Given the description of an element on the screen output the (x, y) to click on. 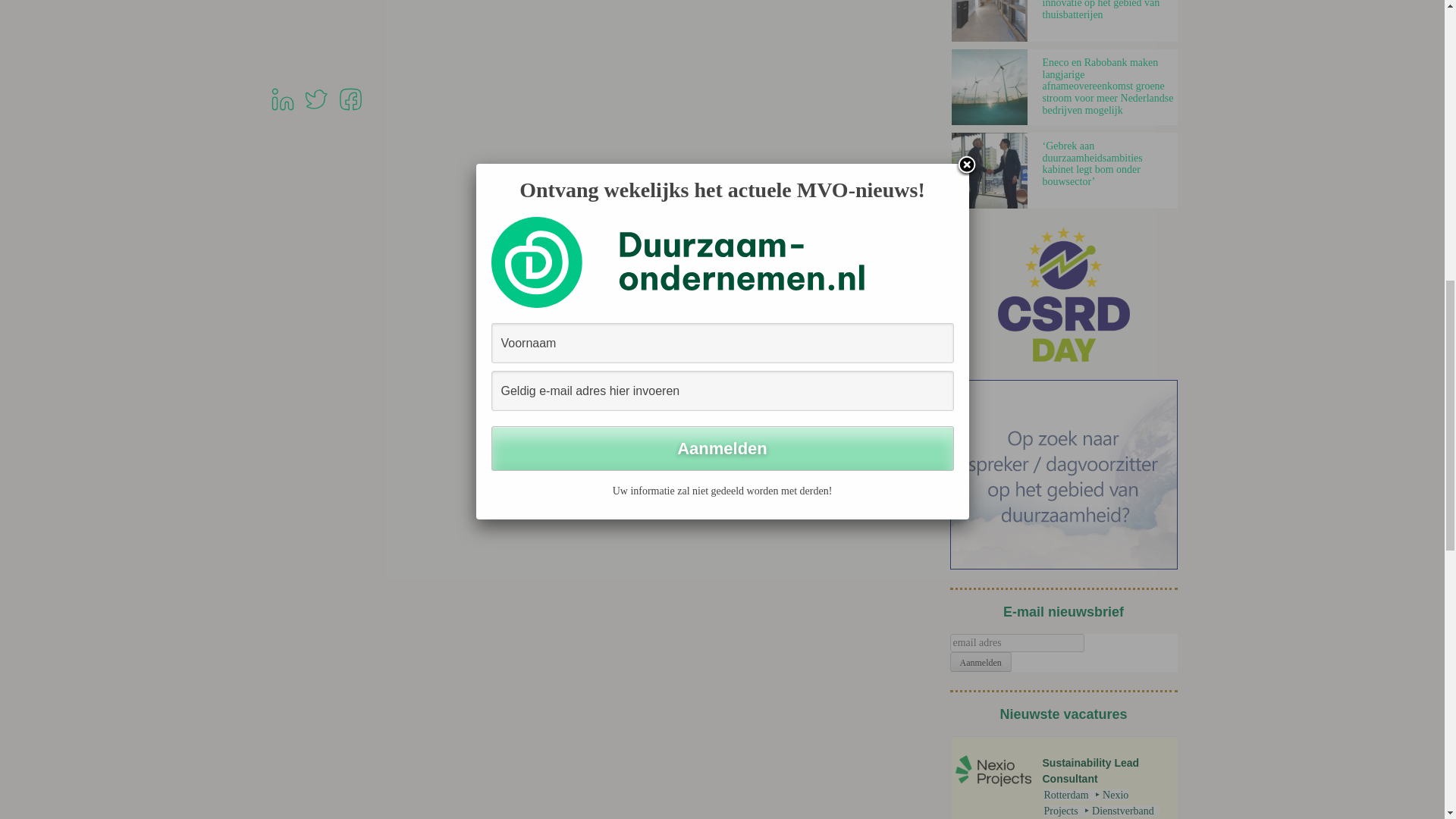
Deel op Twitter (315, 110)
Deel op Facebook (350, 110)
Deel op LinkedIn (281, 110)
Aanmelden (979, 661)
